Given the description of an element on the screen output the (x, y) to click on. 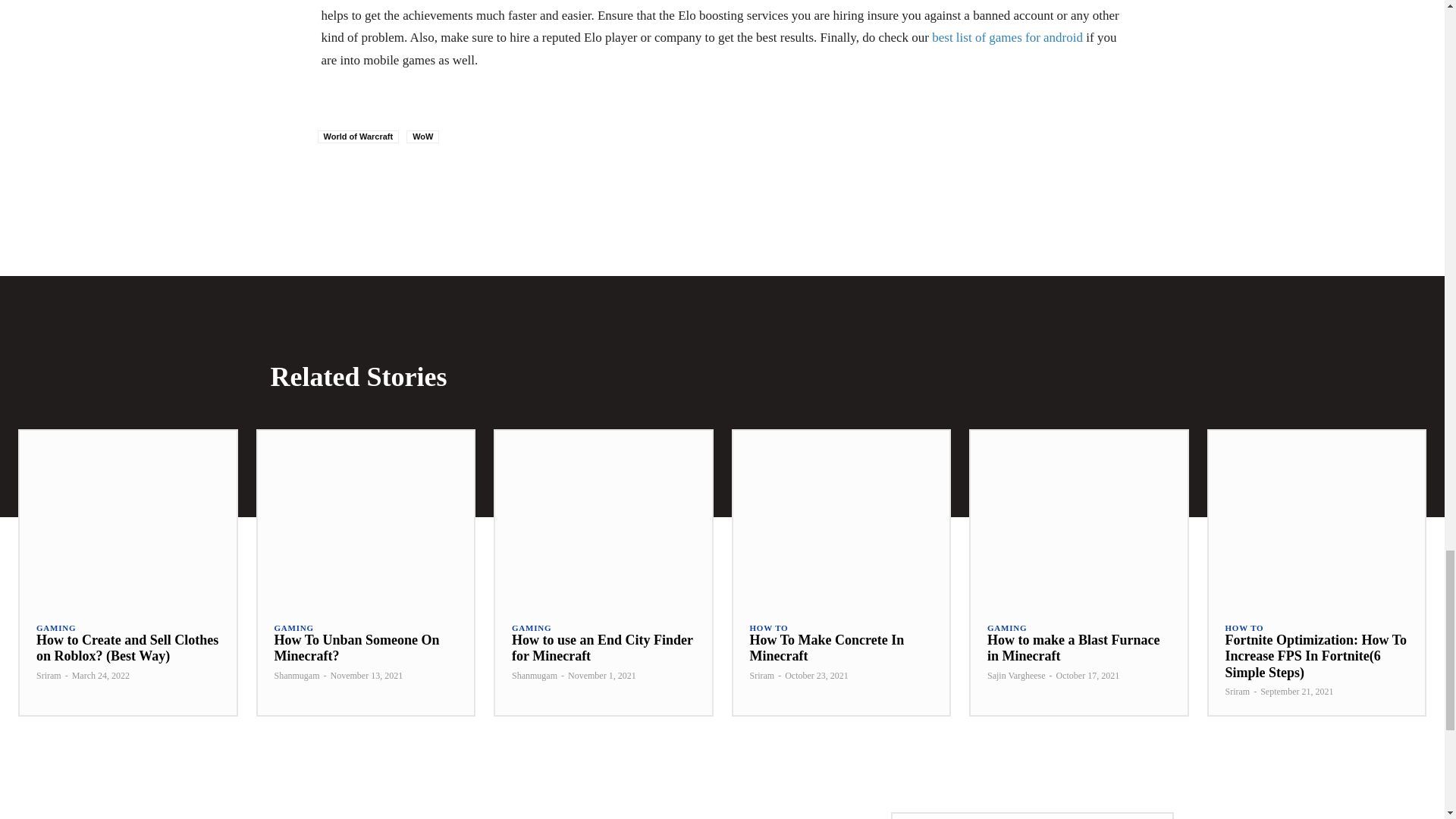
How to use an End City Finder for Minecraft (602, 648)
How To Make Concrete In Minecraft (826, 648)
How To Unban Someone On Minecraft? (365, 516)
How to make a Blast Furnace in Minecraft (1072, 648)
How To Make Concrete In Minecraft (840, 516)
How to use an End City Finder for Minecraft (603, 516)
How To Unban Someone On Minecraft? (357, 648)
How to make a Blast Furnace in Minecraft (1079, 516)
